Given the description of an element on the screen output the (x, y) to click on. 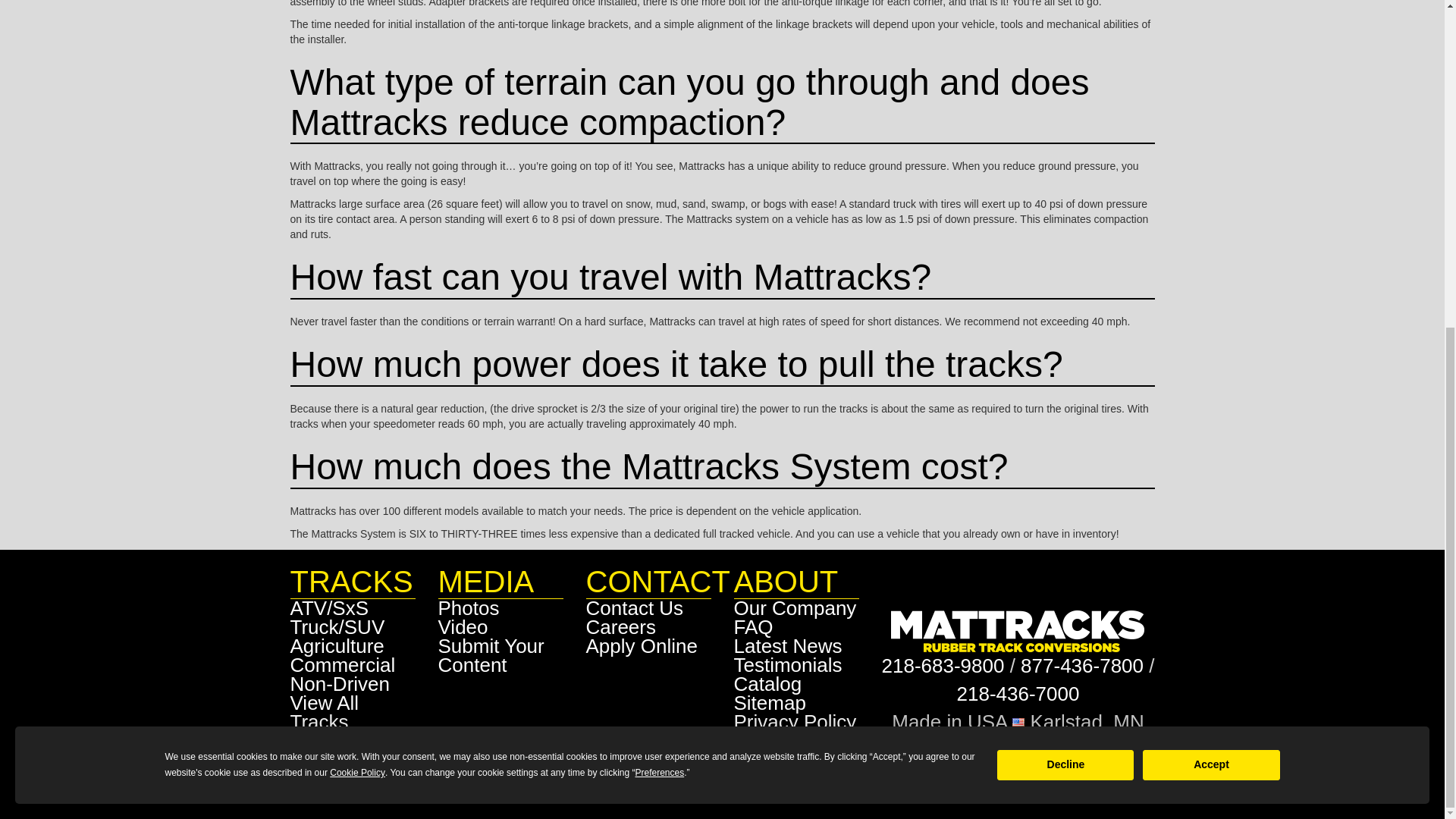
Accept (1210, 225)
Decline (1065, 225)
USA (1018, 722)
Alternate (1018, 693)
Preferences (659, 233)
Cookie Policy (357, 233)
Direct (942, 665)
Mattracks (1017, 630)
